Given the description of an element on the screen output the (x, y) to click on. 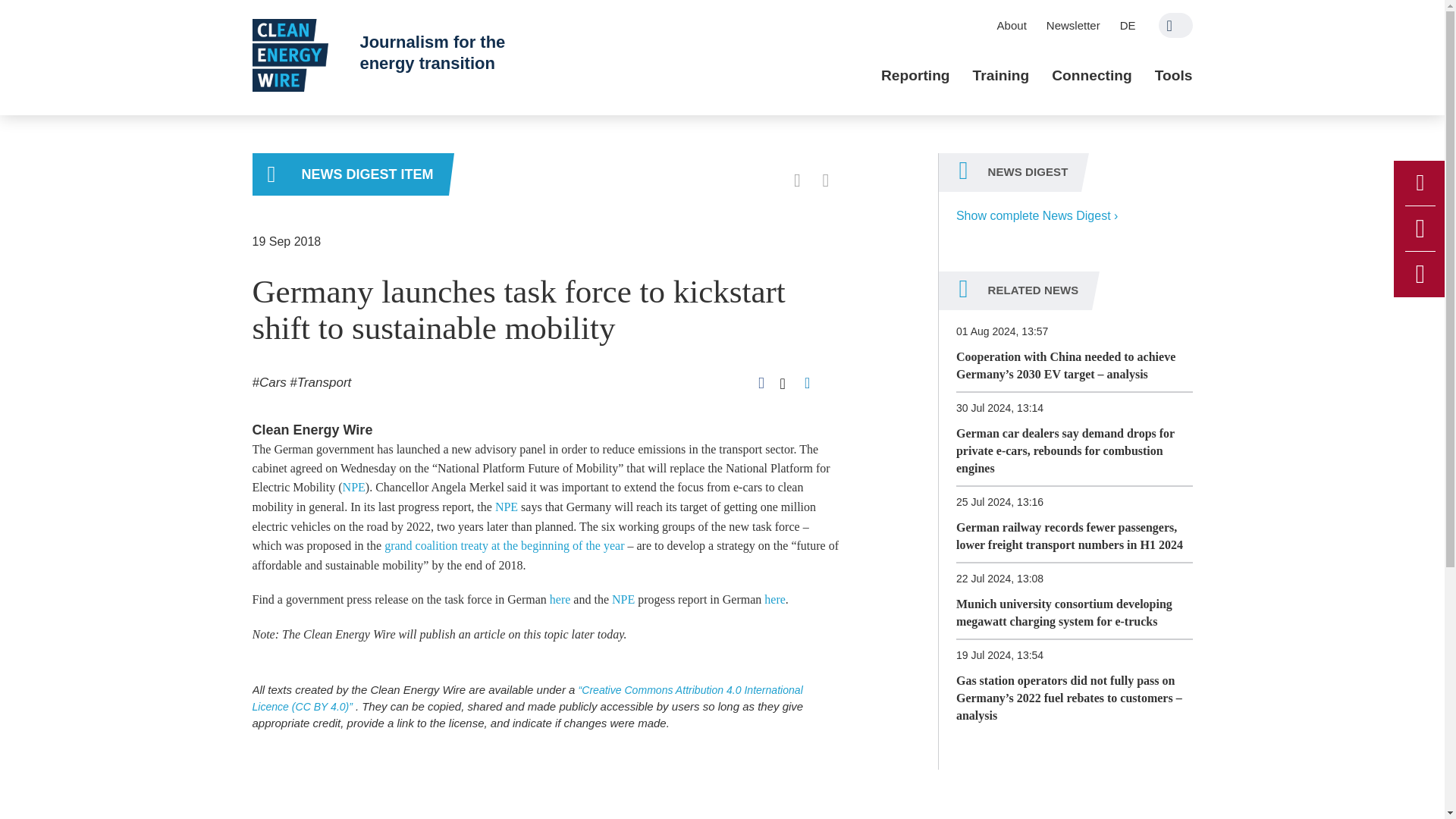
Connecting (1091, 75)
DE (1127, 25)
Tools (1173, 75)
Cars (268, 382)
About (1011, 25)
Reporting (915, 75)
Training (1000, 75)
Transport (319, 382)
Newsletter (1072, 25)
Search (1175, 25)
NPE (506, 506)
NEWS DIGEST ITEM (349, 174)
NPE (353, 486)
